Given the description of an element on the screen output the (x, y) to click on. 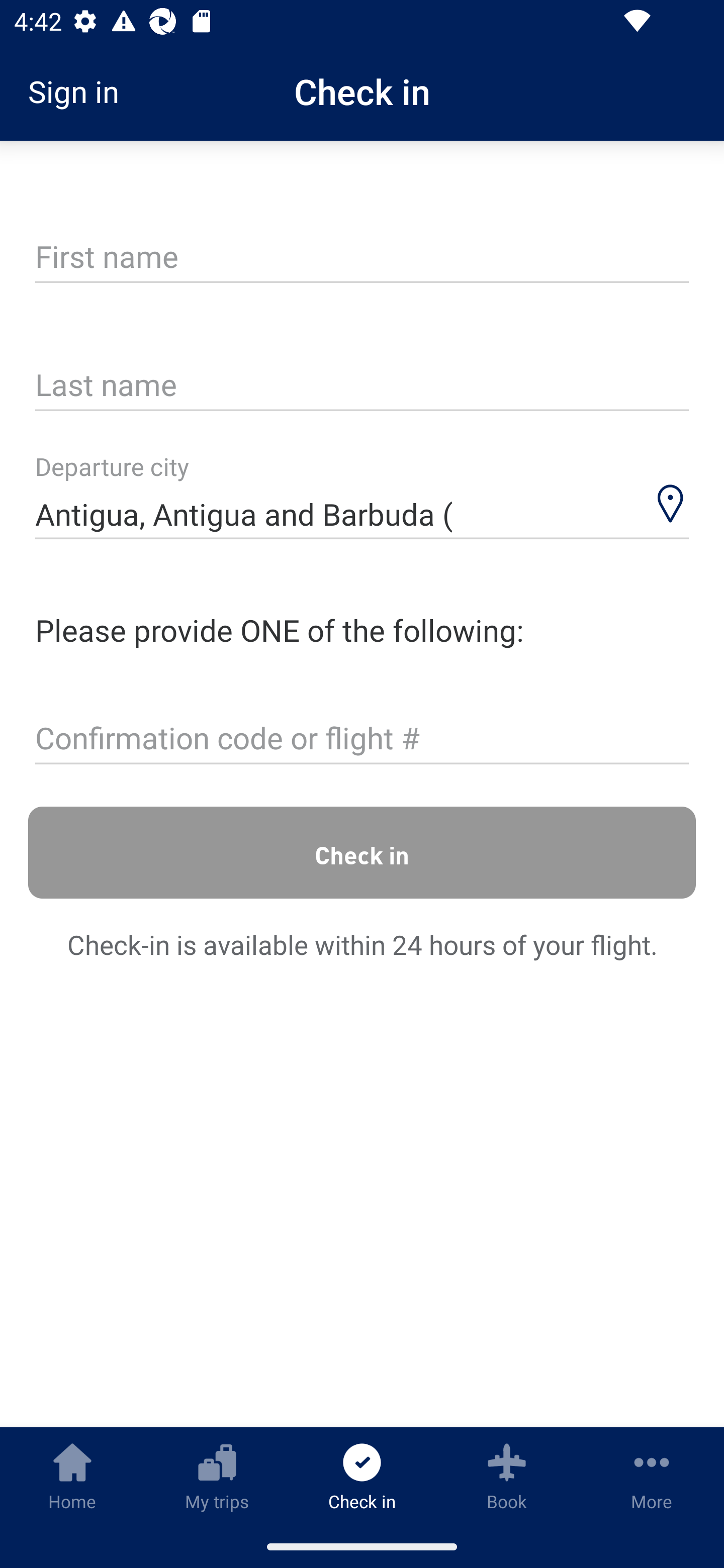
Sign in (80, 91)
First name (361, 257)
Last name (361, 386)
Departure city (361, 496)
Check in (361, 851)
Home (72, 1475)
My trips (216, 1475)
Book (506, 1475)
More (651, 1475)
